Given the description of an element on the screen output the (x, y) to click on. 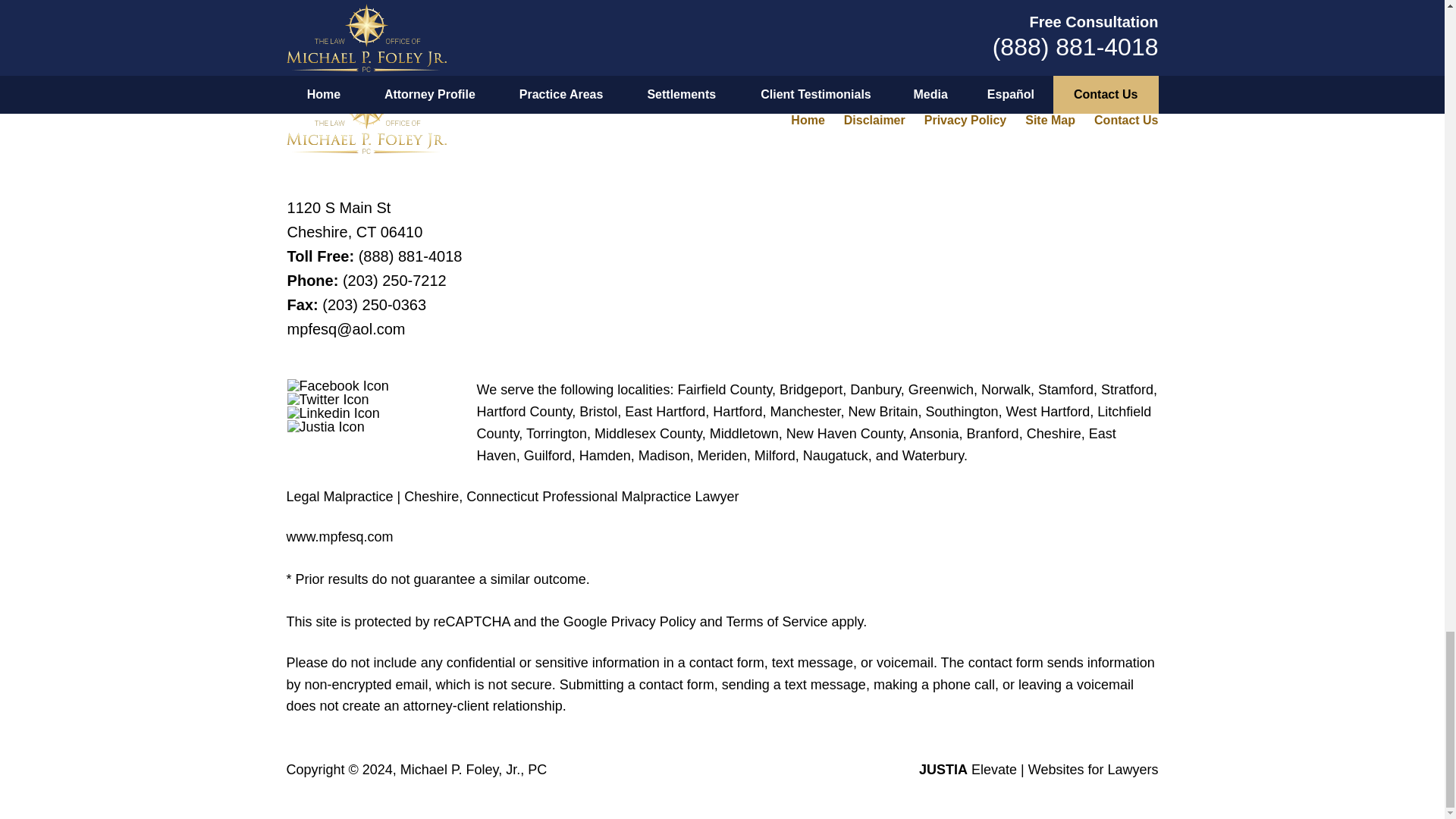
Twitter (327, 399)
Facebook (337, 386)
Linkedin (333, 413)
Justia (325, 427)
